Given the description of an element on the screen output the (x, y) to click on. 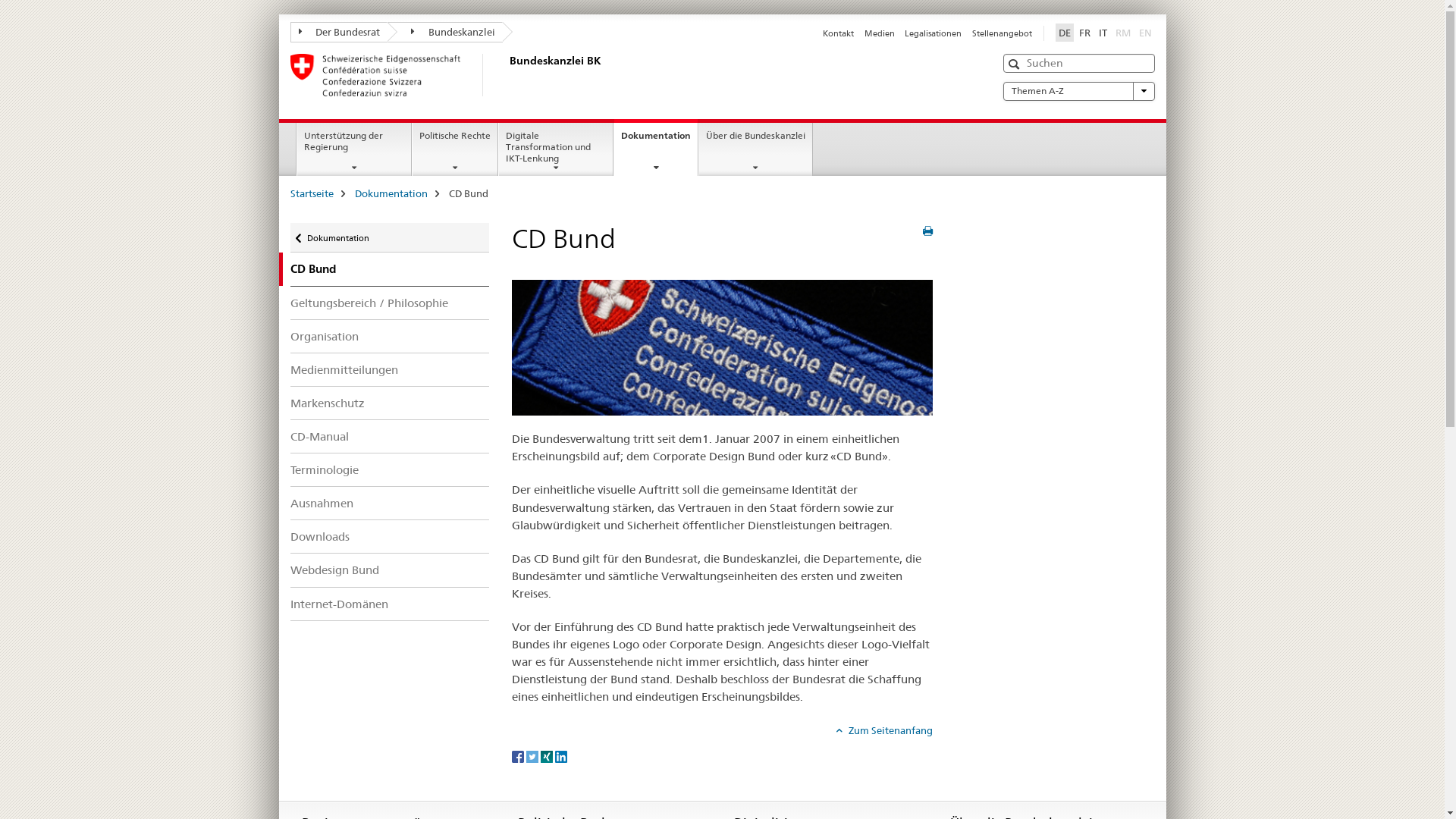
Downloads Element type: text (389, 536)
Markenschutz Element type: text (389, 402)
Webdesign Bund Element type: text (389, 569)
Digitale Transformation und IKT-Lenkung Element type: text (555, 148)
FR Element type: text (1083, 32)
Legalisationen Element type: text (932, 33)
Politische Rechte Element type: text (454, 148)
Dokumentation Element type: text (390, 193)
DE Element type: text (1064, 32)
Bundeskanzlei BK Element type: text (505, 74)
Themen A-Z Element type: text (1078, 90)
Startseite Element type: text (310, 193)
Dokumentation
current page Element type: text (655, 147)
Ausnahmen Element type: text (389, 502)
Seite drucken Element type: hover (927, 230)
Geltungsbereich / Philosophie Element type: text (389, 302)
Organisation Element type: text (389, 336)
Bundeskanzlei Element type: text (444, 31)
Kontakt Element type: text (837, 33)
Zum Seitenanfang Element type: text (884, 730)
IT Element type: text (1102, 32)
RM
disabled Element type: text (1121, 32)
Stellenangebot Element type: text (1002, 33)
CD-Manual Element type: text (389, 436)
Medien Element type: text (879, 33)
Terminologie Element type: text (389, 469)
Der Bundesrat Element type: text (338, 31)
EN
disabled Element type: text (1144, 32)
Medienmitteilungen Element type: text (389, 369)
Suche Element type: text (1015, 63)
